Given the description of an element on the screen output the (x, y) to click on. 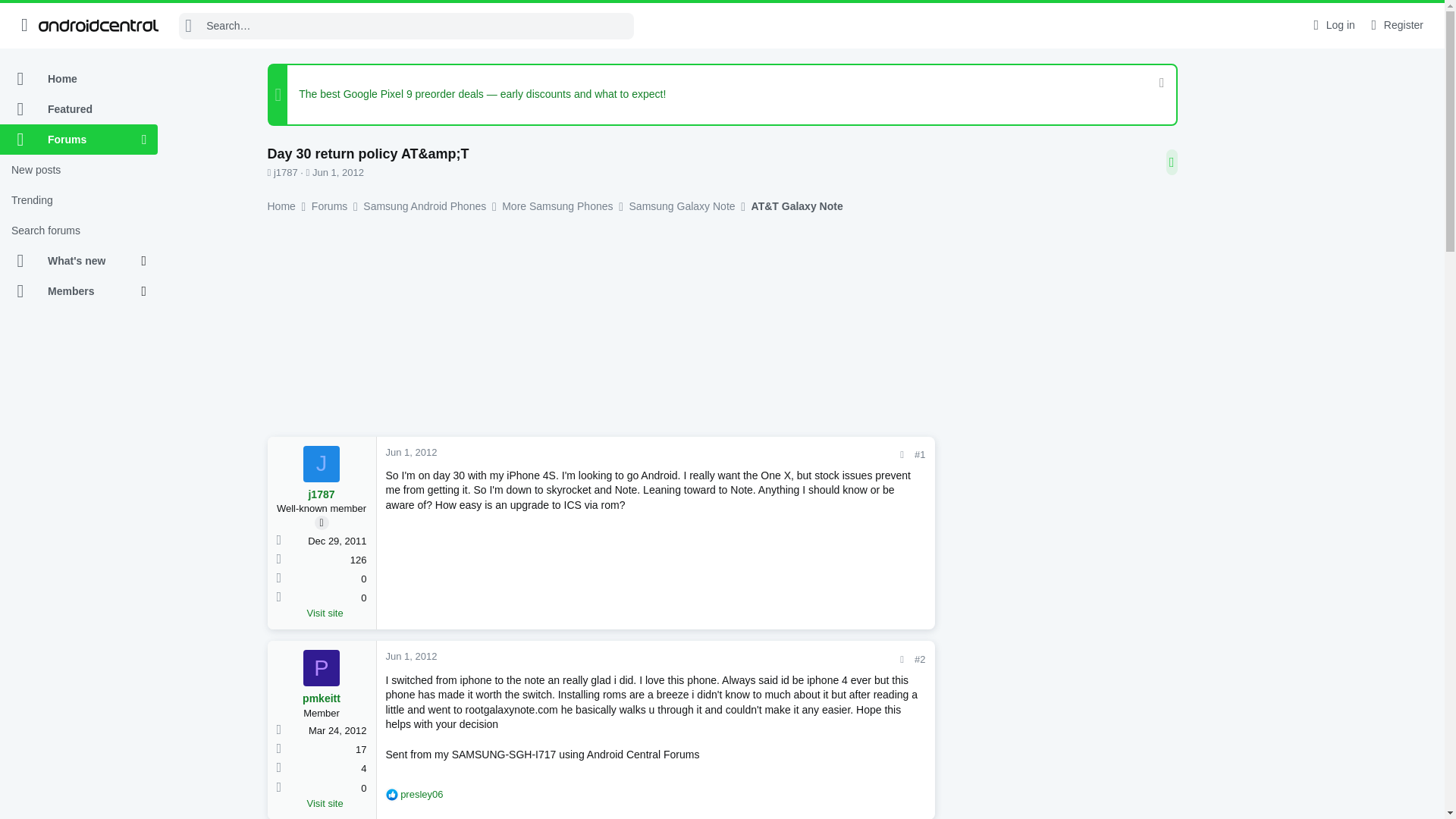
Original poster (321, 522)
Jun 1, 2012 at 9:08 PM (338, 172)
Search forums (78, 230)
Visit site (335, 612)
Forums (70, 139)
New posts (78, 169)
Featured (78, 109)
Log in (1332, 24)
What's new (70, 260)
Trending (78, 200)
